Given the description of an element on the screen output the (x, y) to click on. 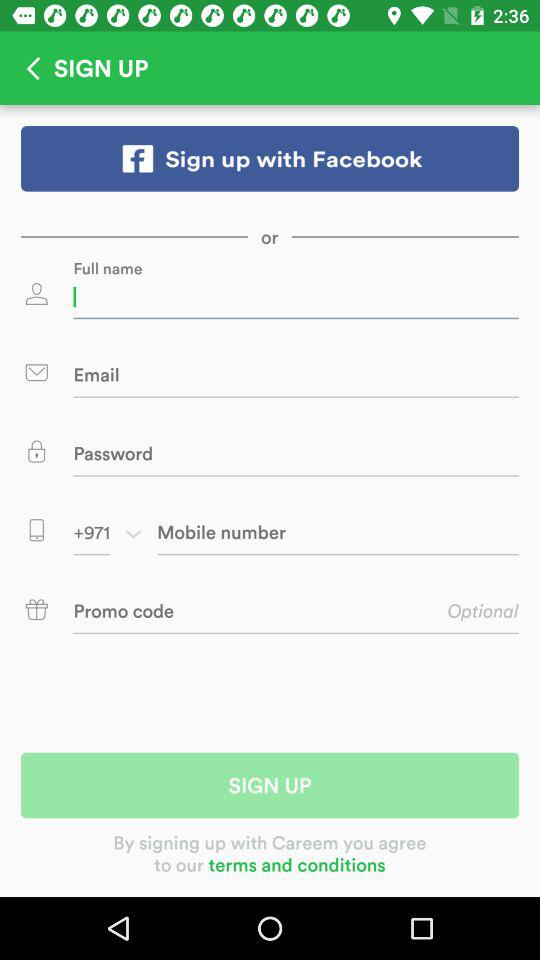
use facebook login (270, 158)
